Given the description of an element on the screen output the (x, y) to click on. 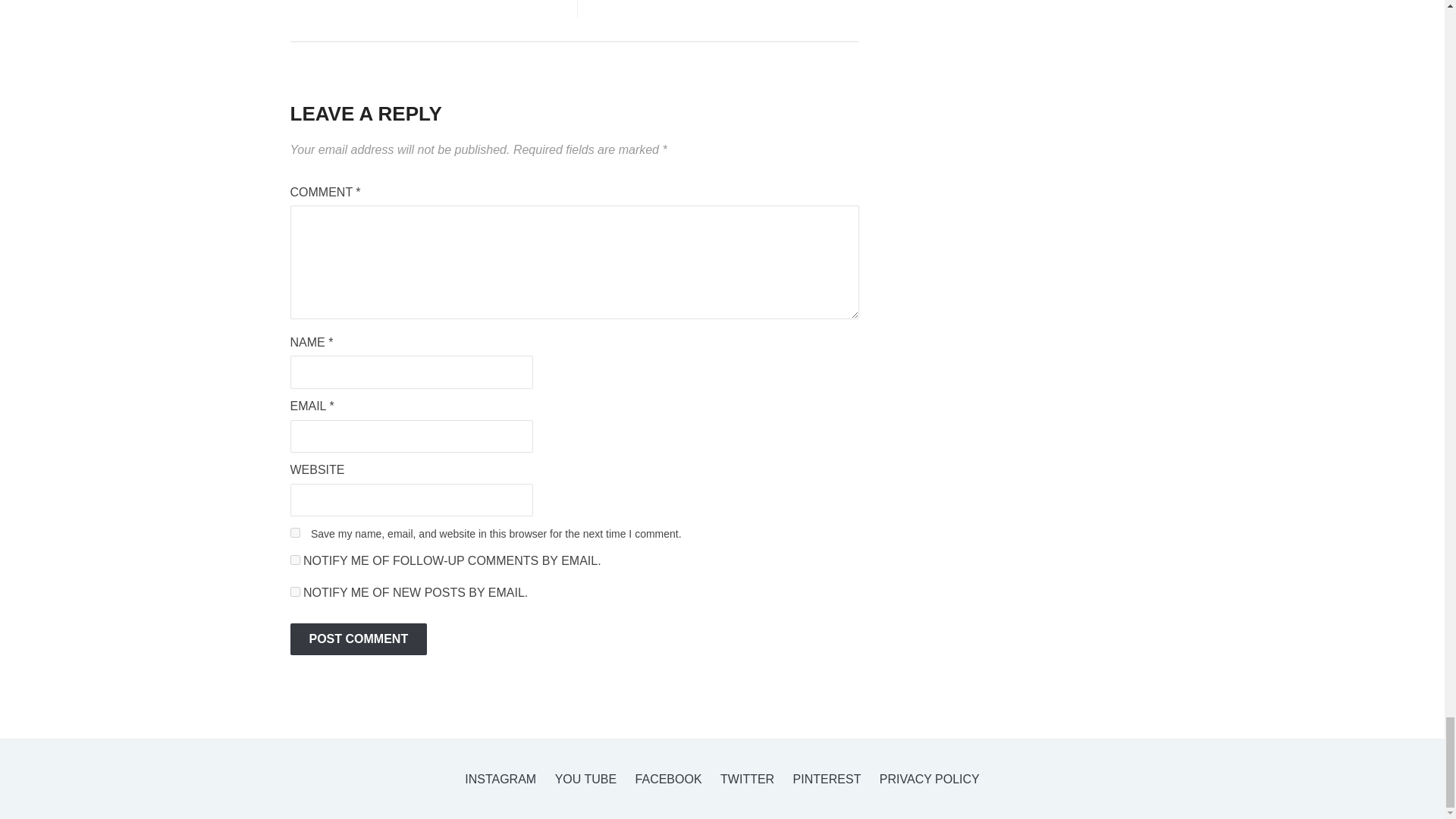
yes (294, 532)
subscribe (294, 560)
subscribe (294, 592)
Post Comment (357, 639)
